Given the description of an element on the screen output the (x, y) to click on. 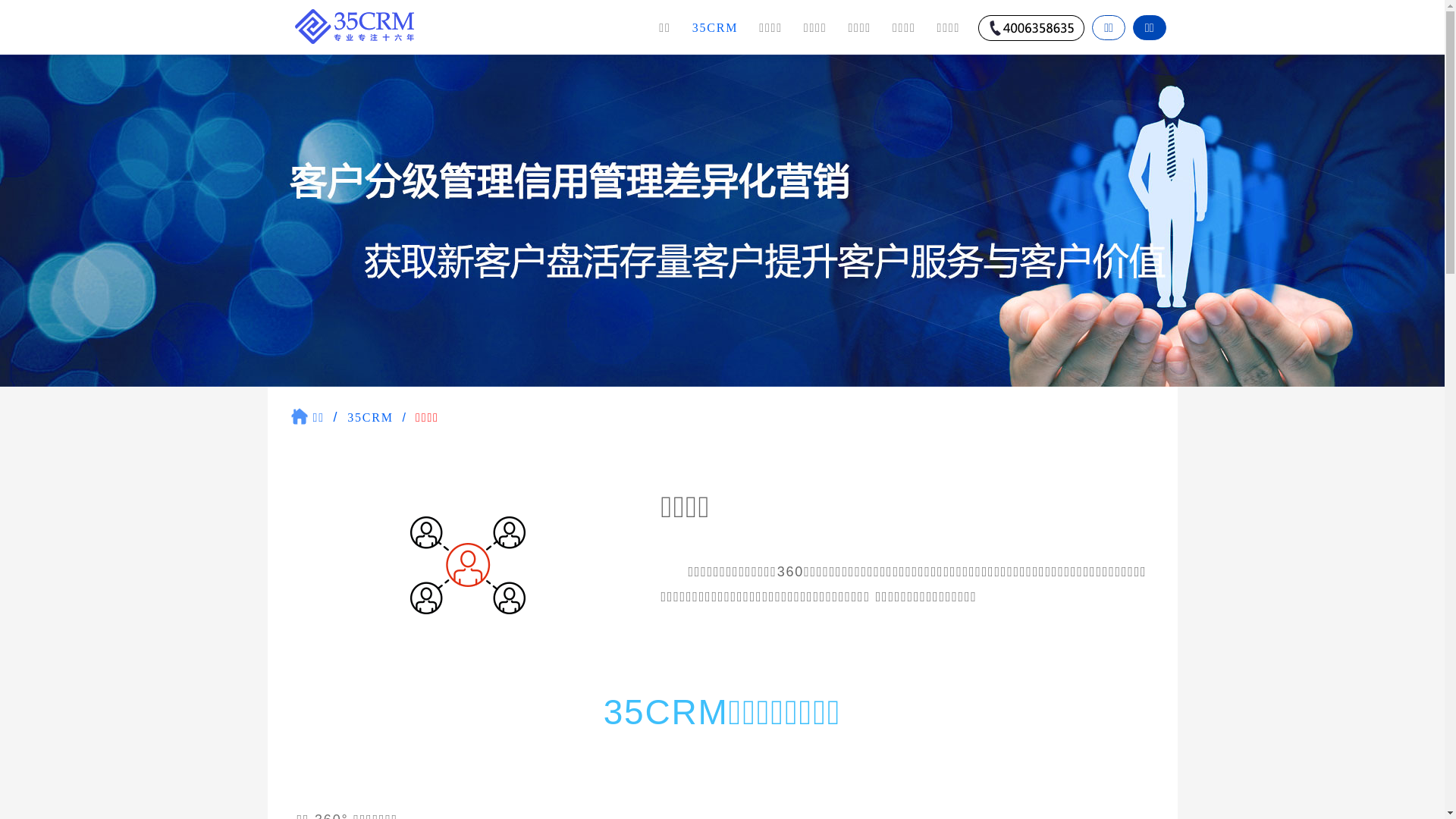
35CRM Element type: text (370, 417)
35CRM Element type: text (715, 27)
